Given the description of an element on the screen output the (x, y) to click on. 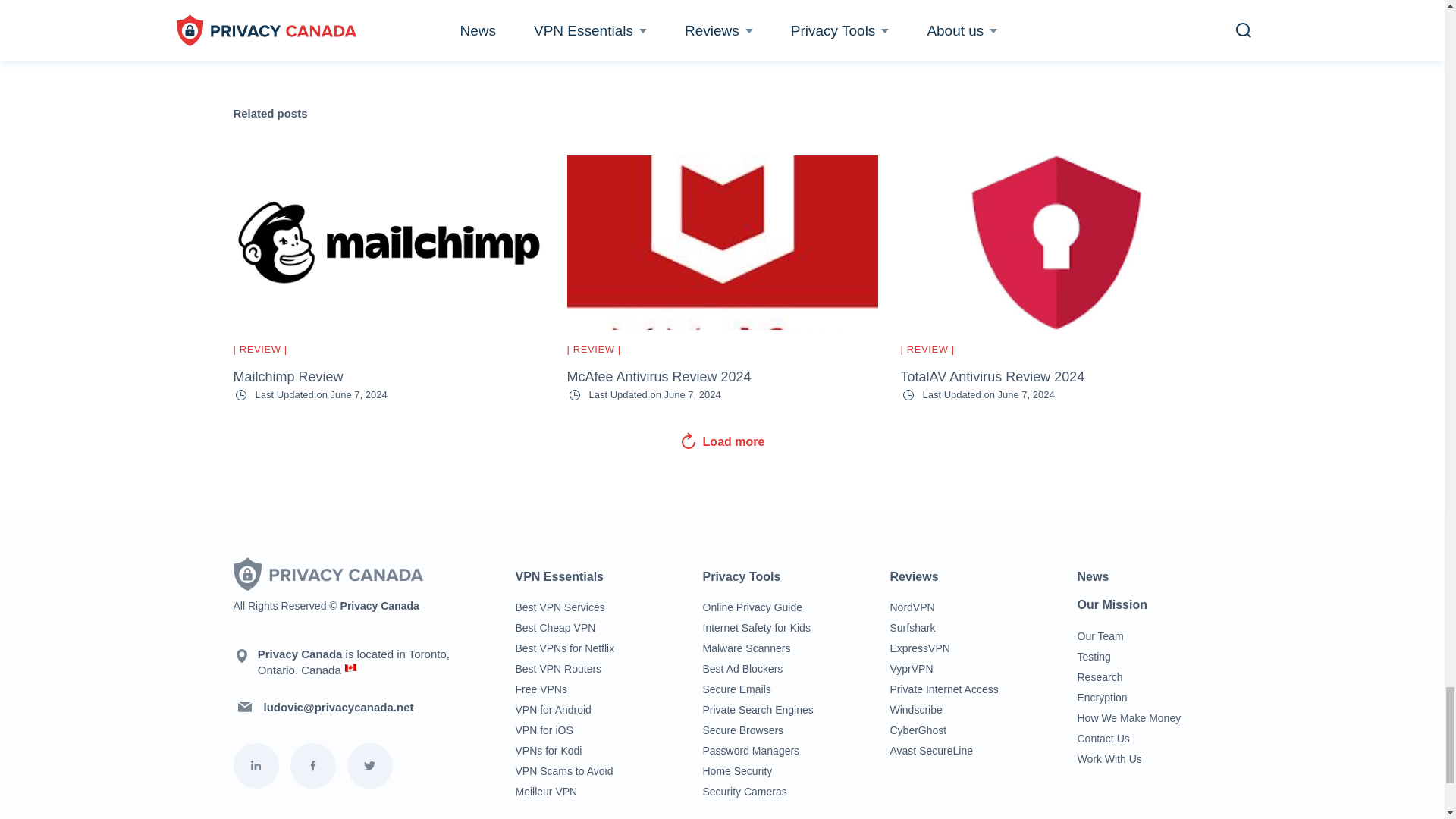
mcafee (722, 242)
totalav-logo (1056, 242)
